Given the description of an element on the screen output the (x, y) to click on. 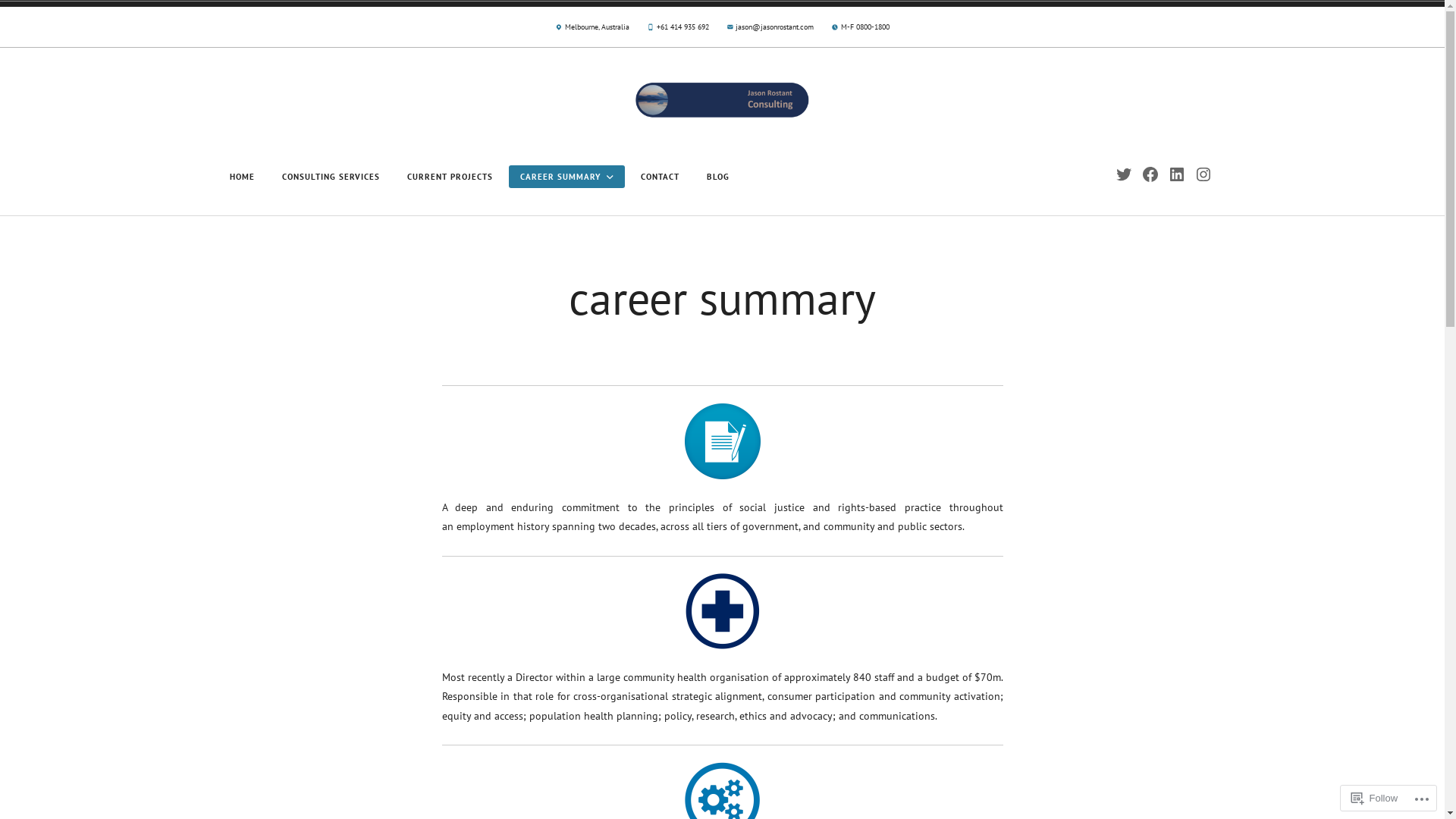
CONSULTING SERVICES Element type: text (329, 176)
CONTACT Element type: text (659, 176)
CURRENT PROJECTS Element type: text (449, 176)
Follow Element type: text (1374, 797)
Phone +61 414 935 692 Element type: text (677, 30)
CAREER SUMMARY Element type: text (566, 176)
Location Melbourne, Australia Element type: text (592, 30)
HOME Element type: text (242, 176)
E-mail jason@jasonrostant.com Element type: text (770, 30)
BLOG Element type: text (717, 176)
